Given the description of an element on the screen output the (x, y) to click on. 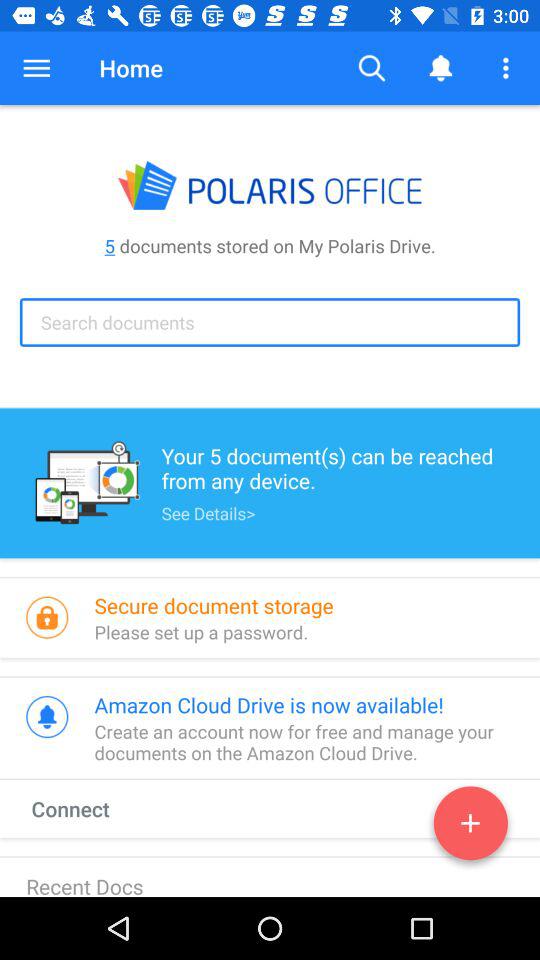
open item to the right of connect item (470, 827)
